Given the description of an element on the screen output the (x, y) to click on. 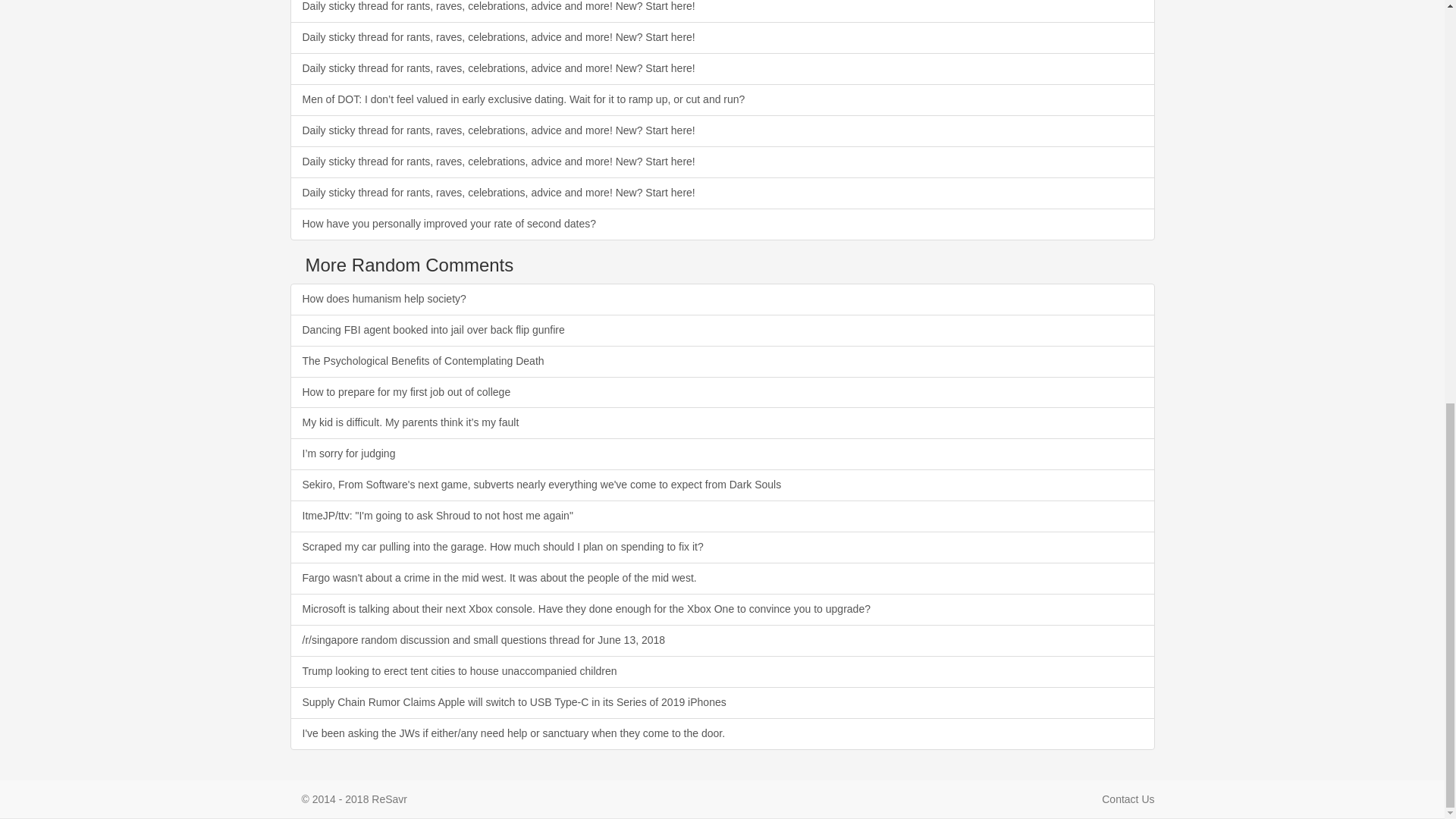
How have you personally improved your rate of second dates? (721, 224)
The Psychological Benefits of Contemplating Death (721, 361)
How to prepare for my first job out of college (721, 392)
Dancing FBI agent booked into jail over back flip gunfire (721, 330)
